Given the description of an element on the screen output the (x, y) to click on. 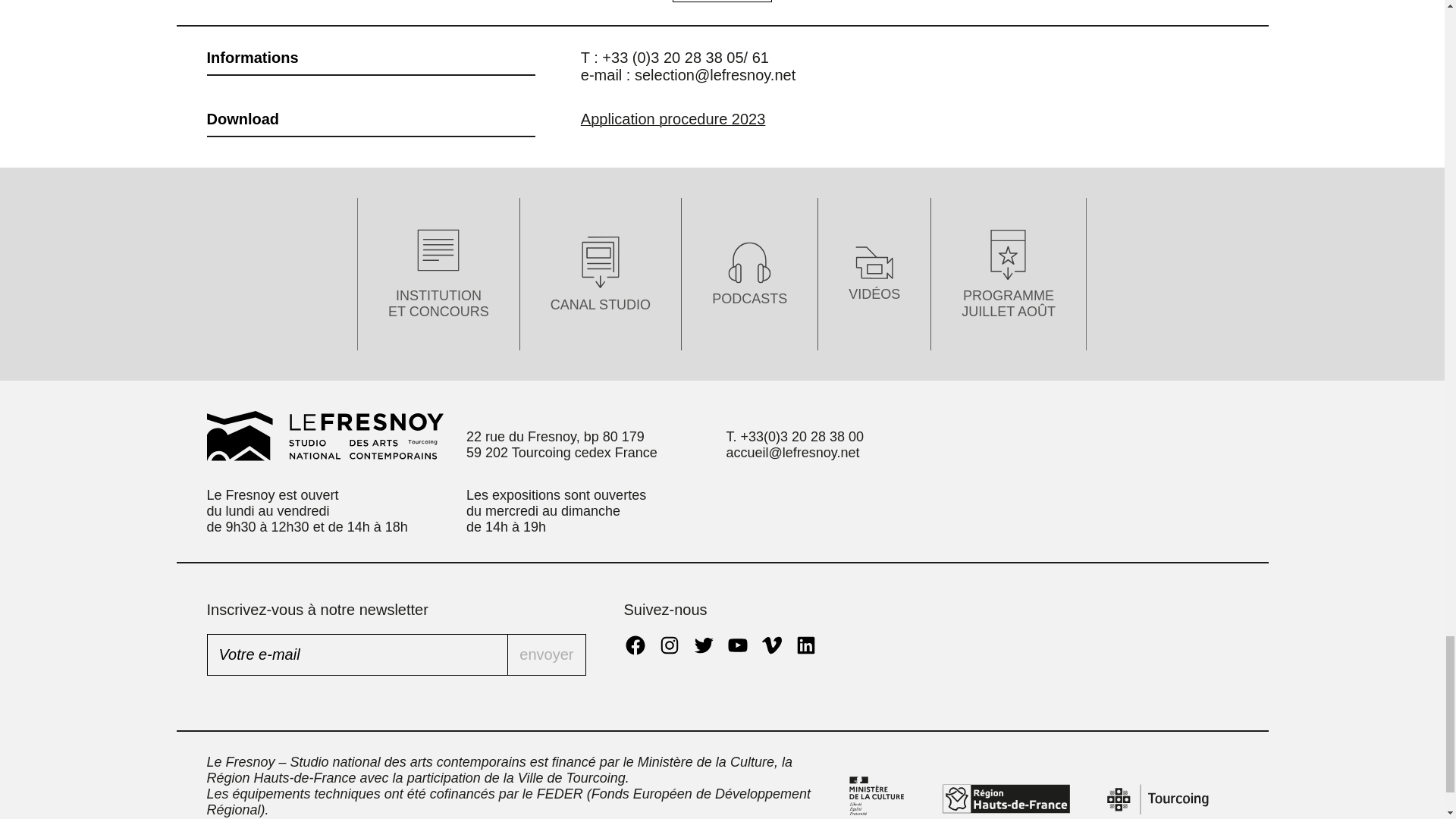
envoyer (545, 654)
